Given the description of an element on the screen output the (x, y) to click on. 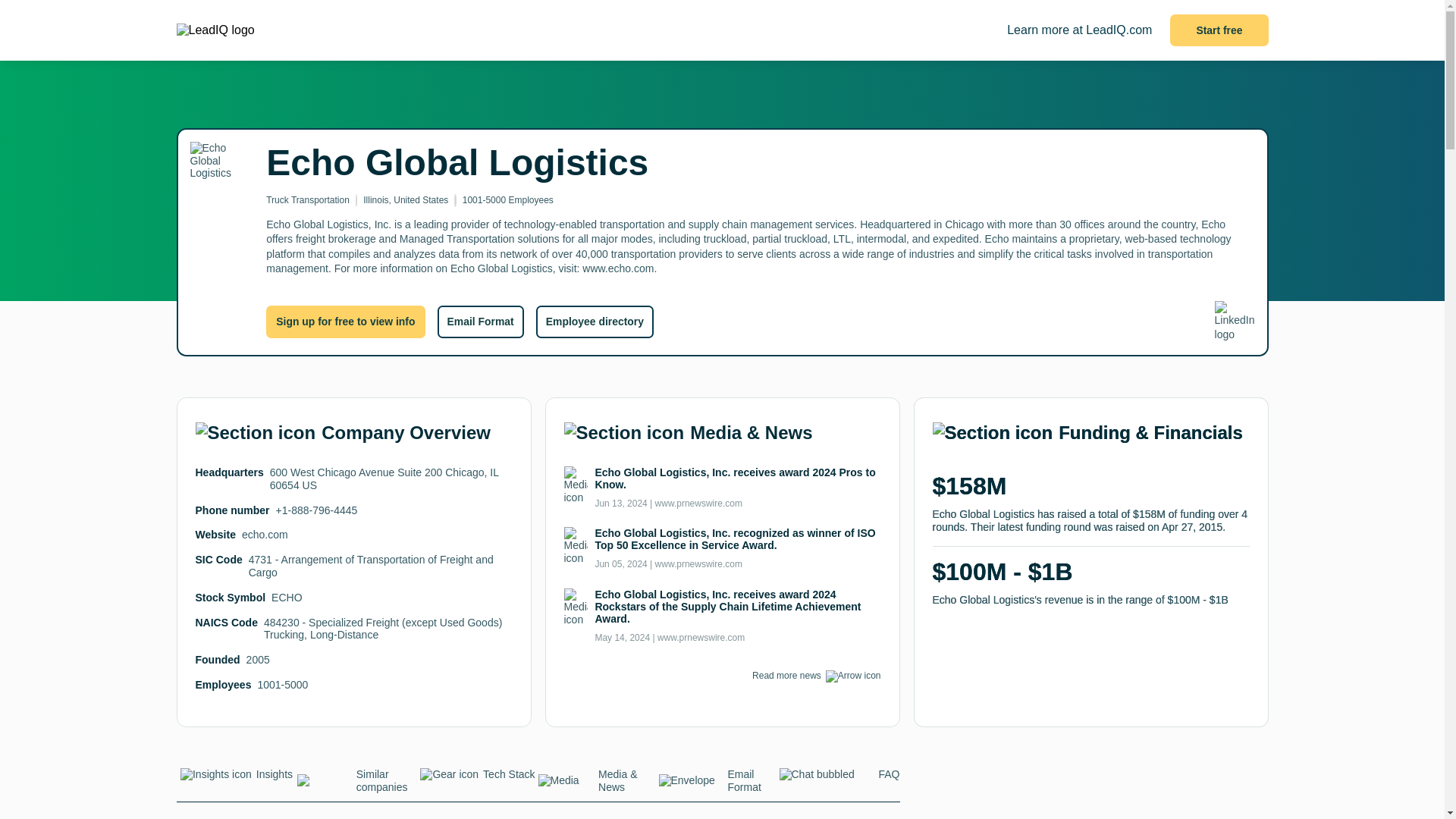
Similar companies (357, 785)
Employee directory (594, 321)
FAQ (838, 778)
Start free (1219, 29)
Insights (236, 778)
Sign up for free to view info (345, 321)
Email Format (479, 321)
Tech Stack (476, 778)
Learn more at LeadIQ.com (1079, 29)
Email Format (718, 785)
